Given the description of an element on the screen output the (x, y) to click on. 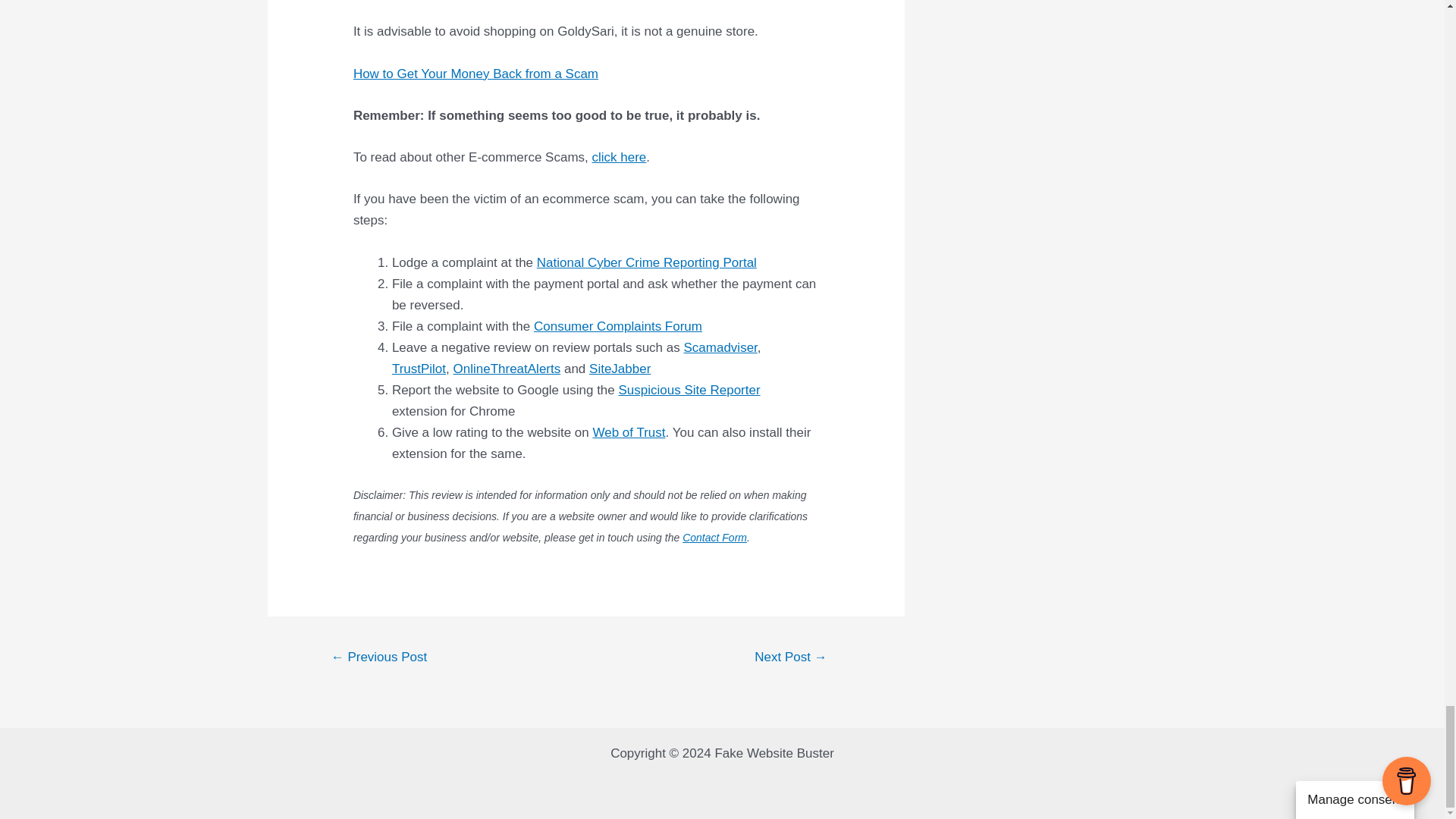
Xehia Trading Ltd. - Chinese Shopping Scams (378, 658)
